Given the description of an element on the screen output the (x, y) to click on. 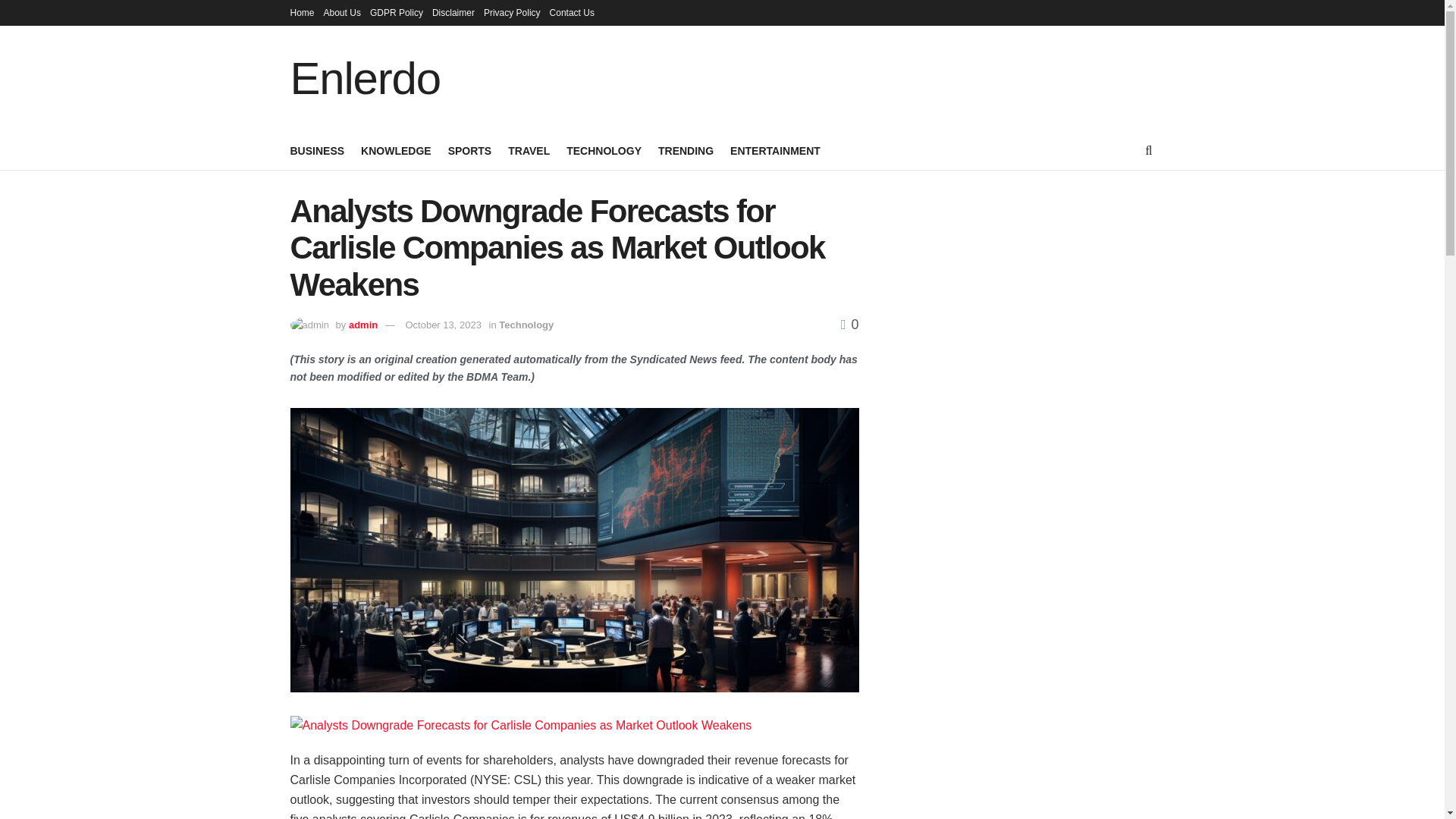
TRENDING (685, 150)
BUSINESS (316, 150)
admin (363, 324)
KNOWLEDGE (395, 150)
Enlerdo (364, 78)
ENTERTAINMENT (775, 150)
October 13, 2023 (442, 324)
TRAVEL (529, 150)
0 (850, 324)
GDPR Policy (396, 12)
